Given the description of an element on the screen output the (x, y) to click on. 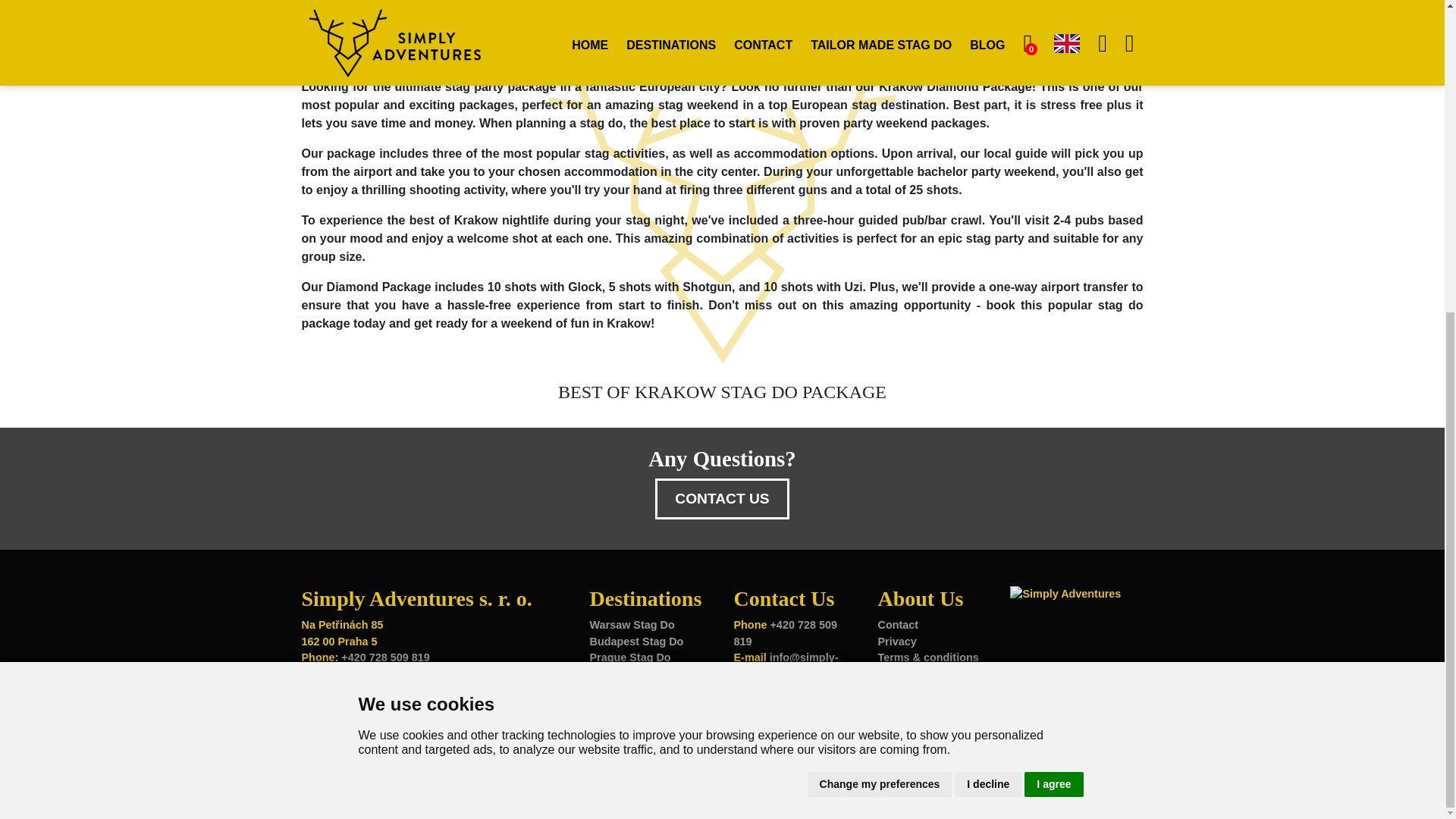
Previous (362, 11)
Next (649, 11)
I decline (988, 285)
Budapest Stag Do (635, 641)
Prague Stag Do (629, 657)
Change my preferences (880, 285)
CONTACT US (722, 498)
Warsaw Stag Do (631, 624)
I agree (1054, 285)
